Given the description of an element on the screen output the (x, y) to click on. 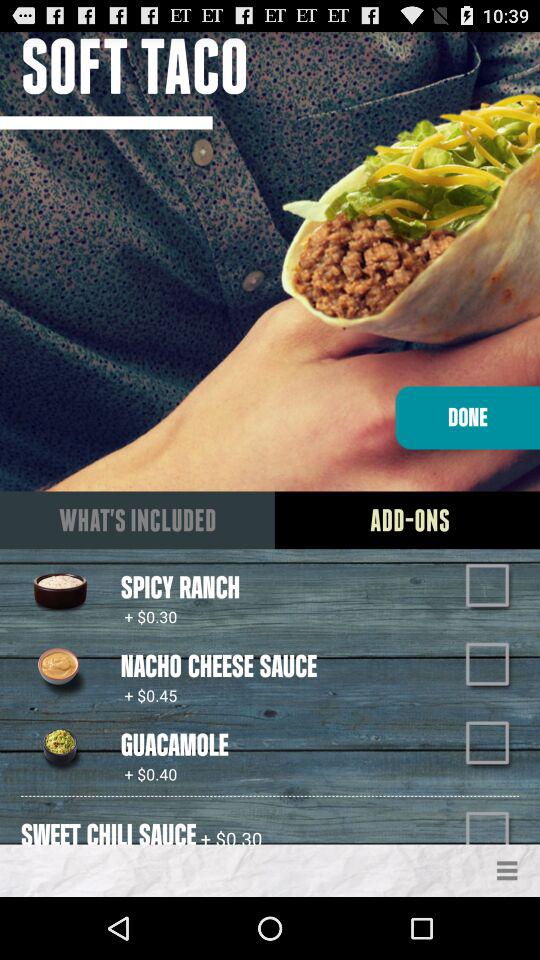
click on the button at bottom of the page (507, 870)
